Given the description of an element on the screen output the (x, y) to click on. 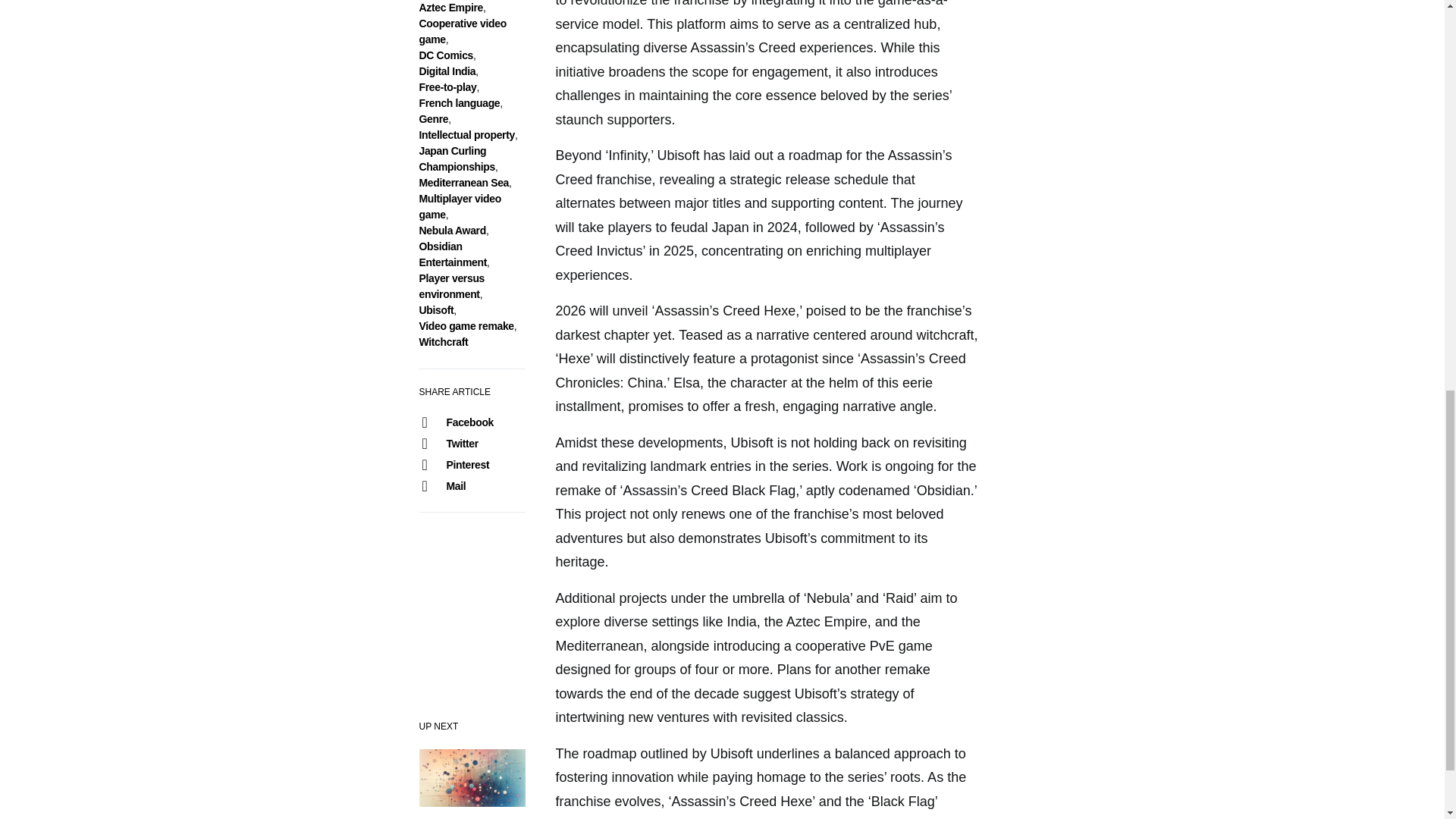
Aztec Empire (451, 7)
Japan Curling Championships (457, 158)
Genre (433, 119)
Digital India (447, 70)
French language (459, 102)
Cooperative video game (462, 31)
Free-to-play (447, 87)
Intellectual property (466, 134)
Mediterranean Sea (463, 182)
DC Comics (446, 55)
